Given the description of an element on the screen output the (x, y) to click on. 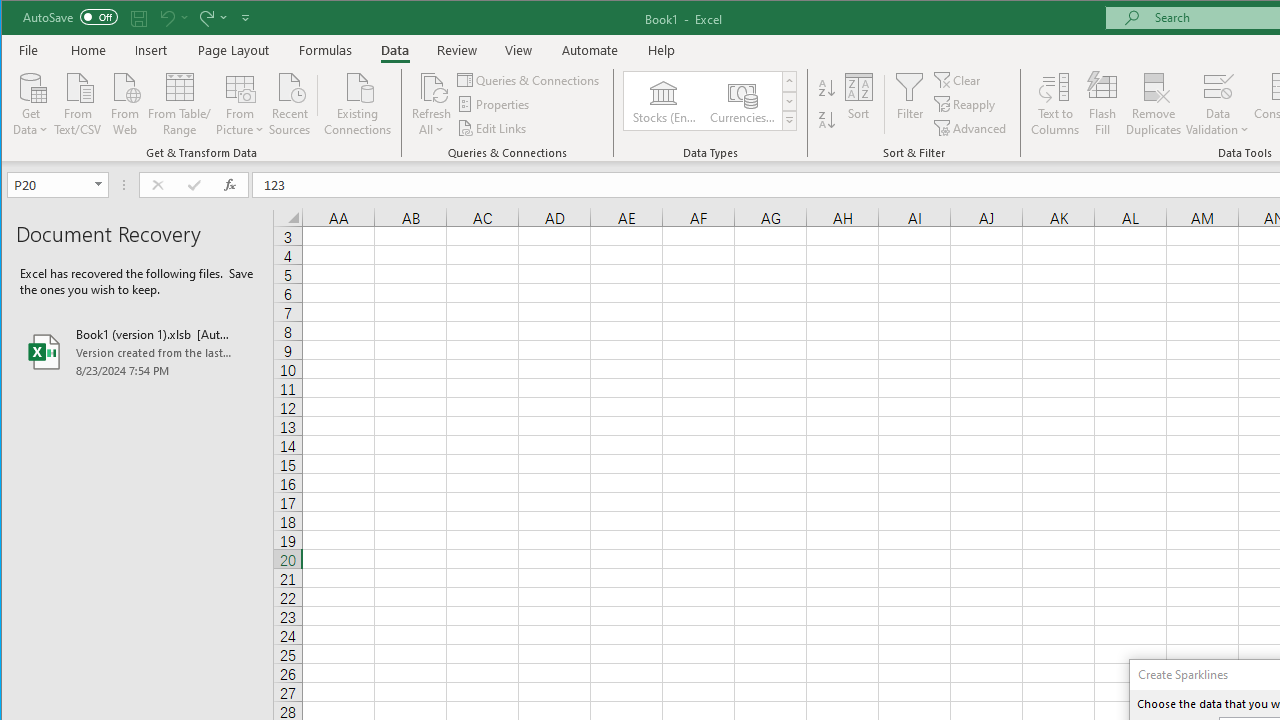
Queries & Connections (529, 80)
Stocks (English) (663, 100)
Edit Links (493, 127)
Reapply (966, 103)
Properties (495, 103)
From Web (124, 101)
